Given the description of an element on the screen output the (x, y) to click on. 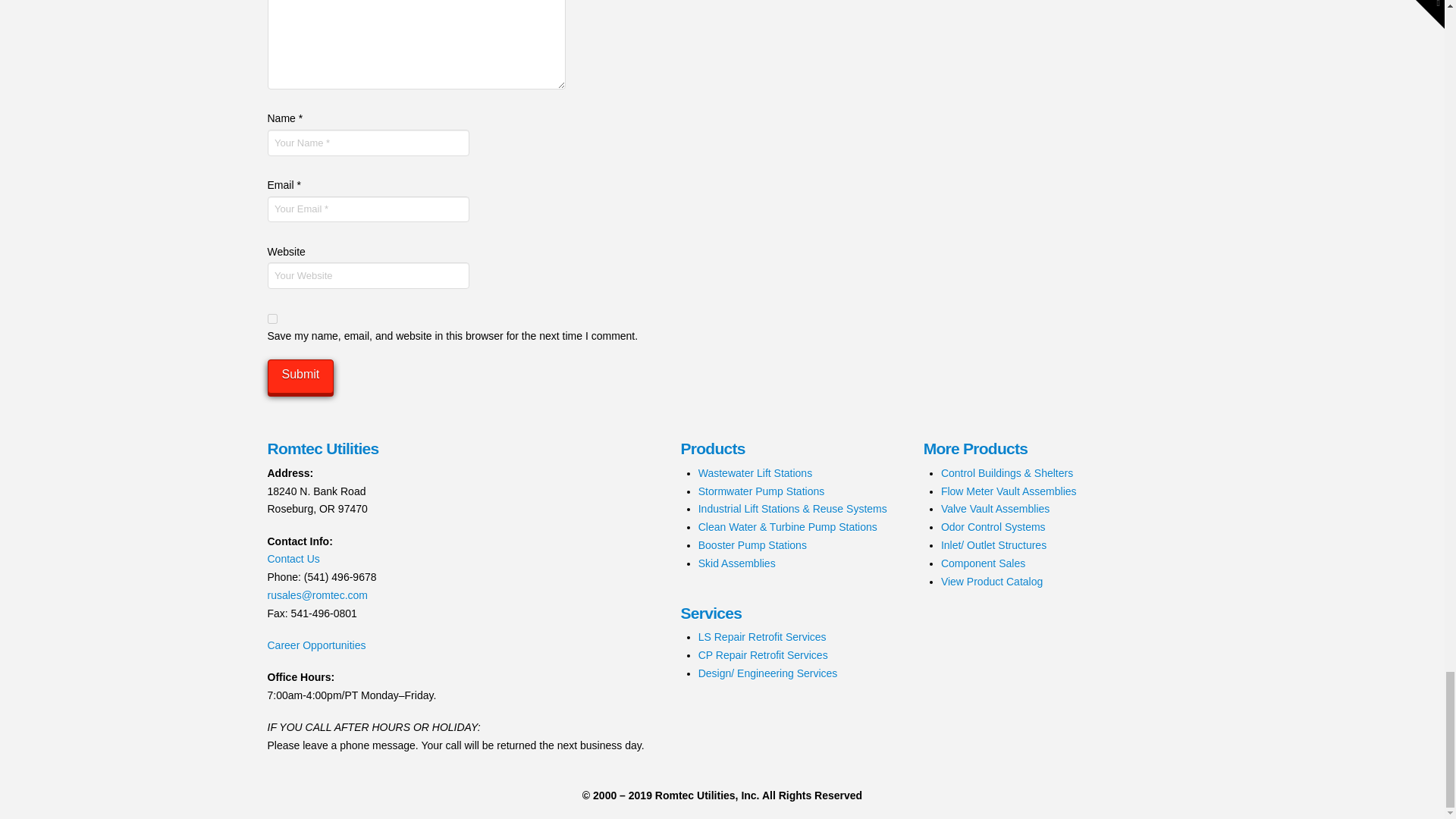
yes (271, 318)
Submit (299, 376)
